Given the description of an element on the screen output the (x, y) to click on. 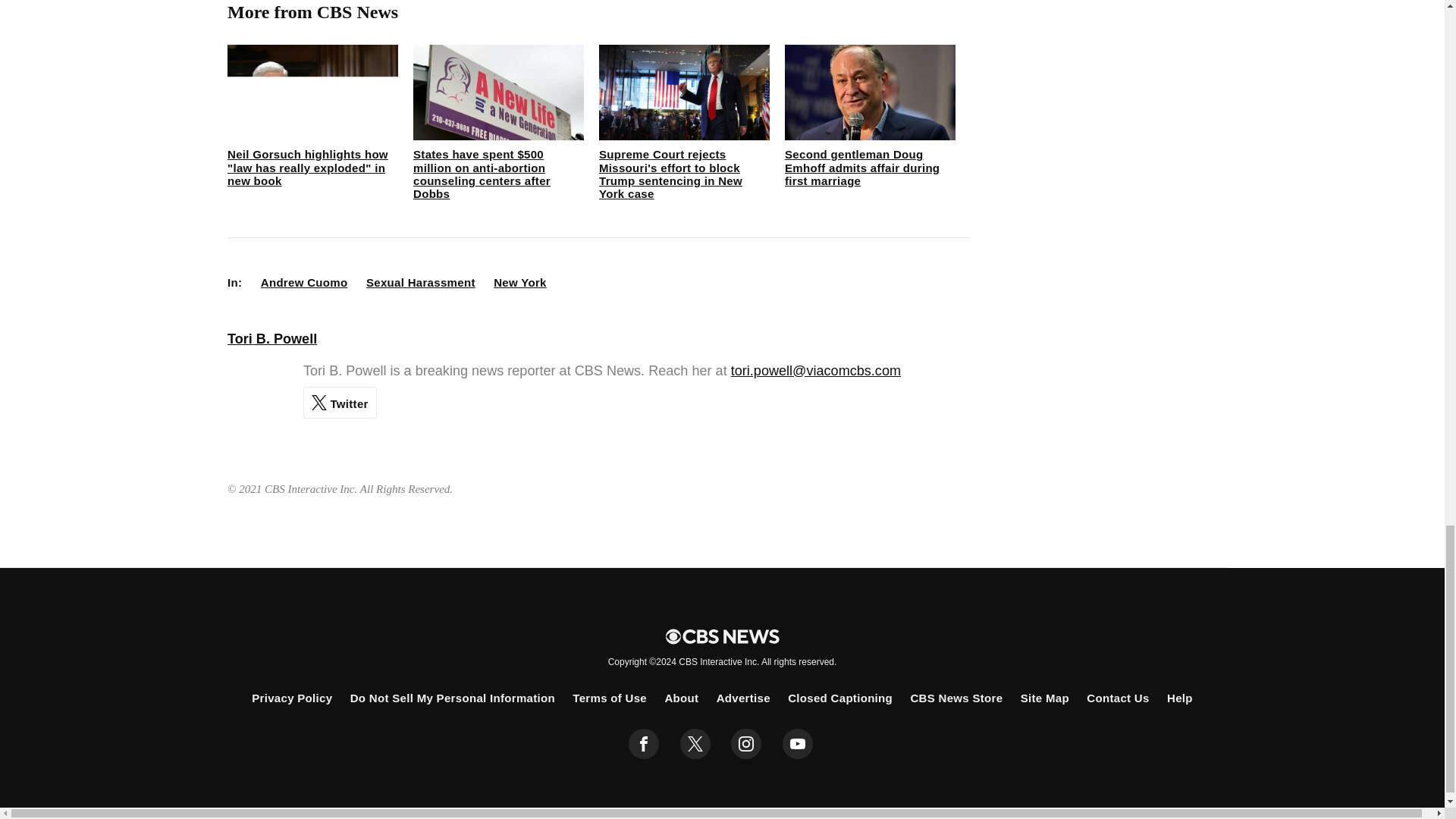
instagram (745, 743)
facebook (643, 743)
twitter (694, 743)
youtube (797, 743)
